Given the description of an element on the screen output the (x, y) to click on. 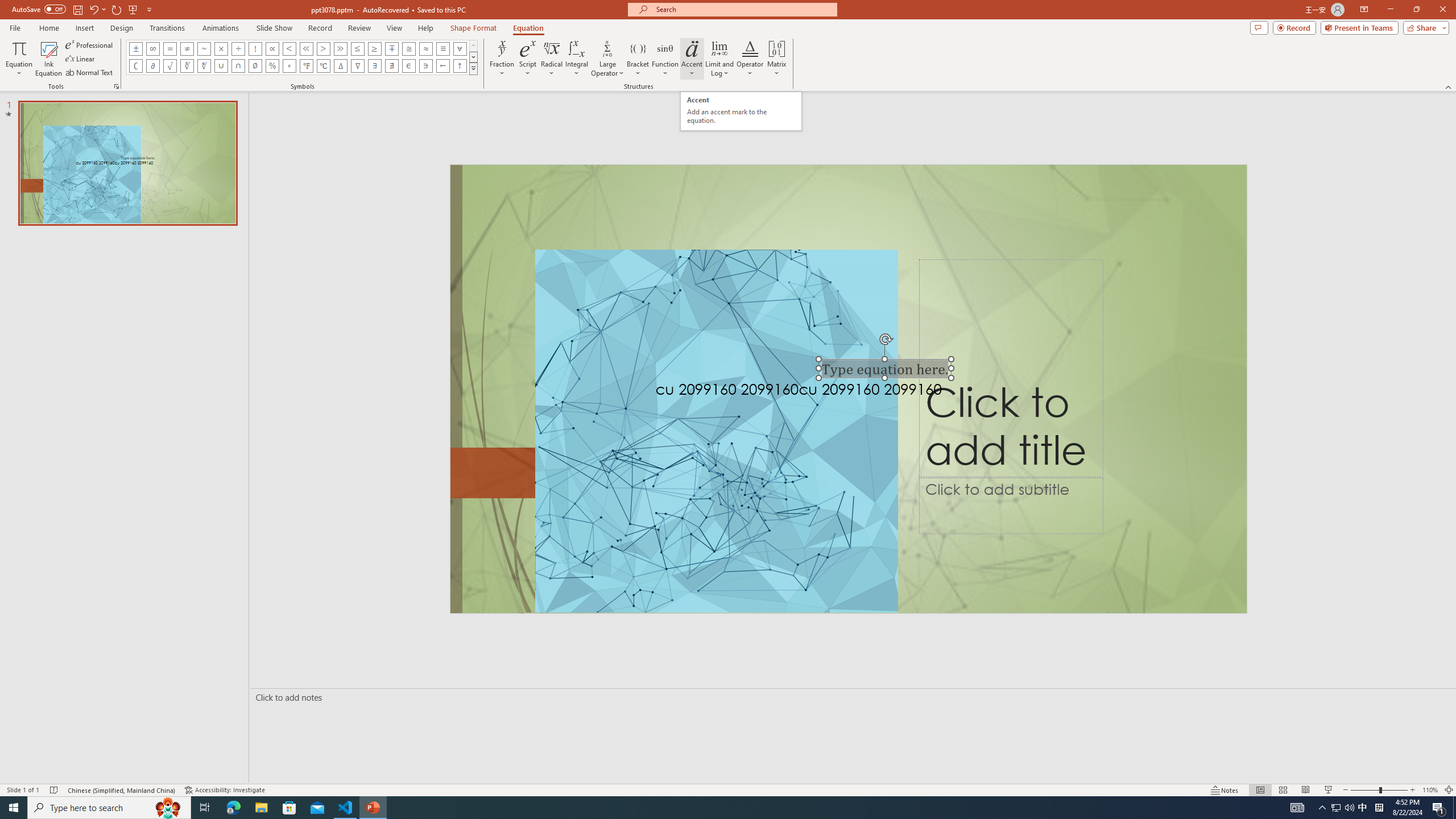
Normal Text (90, 72)
Equation Symbol Less Than or Equal To (357, 48)
Equation Symbol Approximately Equal To (408, 48)
Matrix (776, 58)
